Given the description of an element on the screen output the (x, y) to click on. 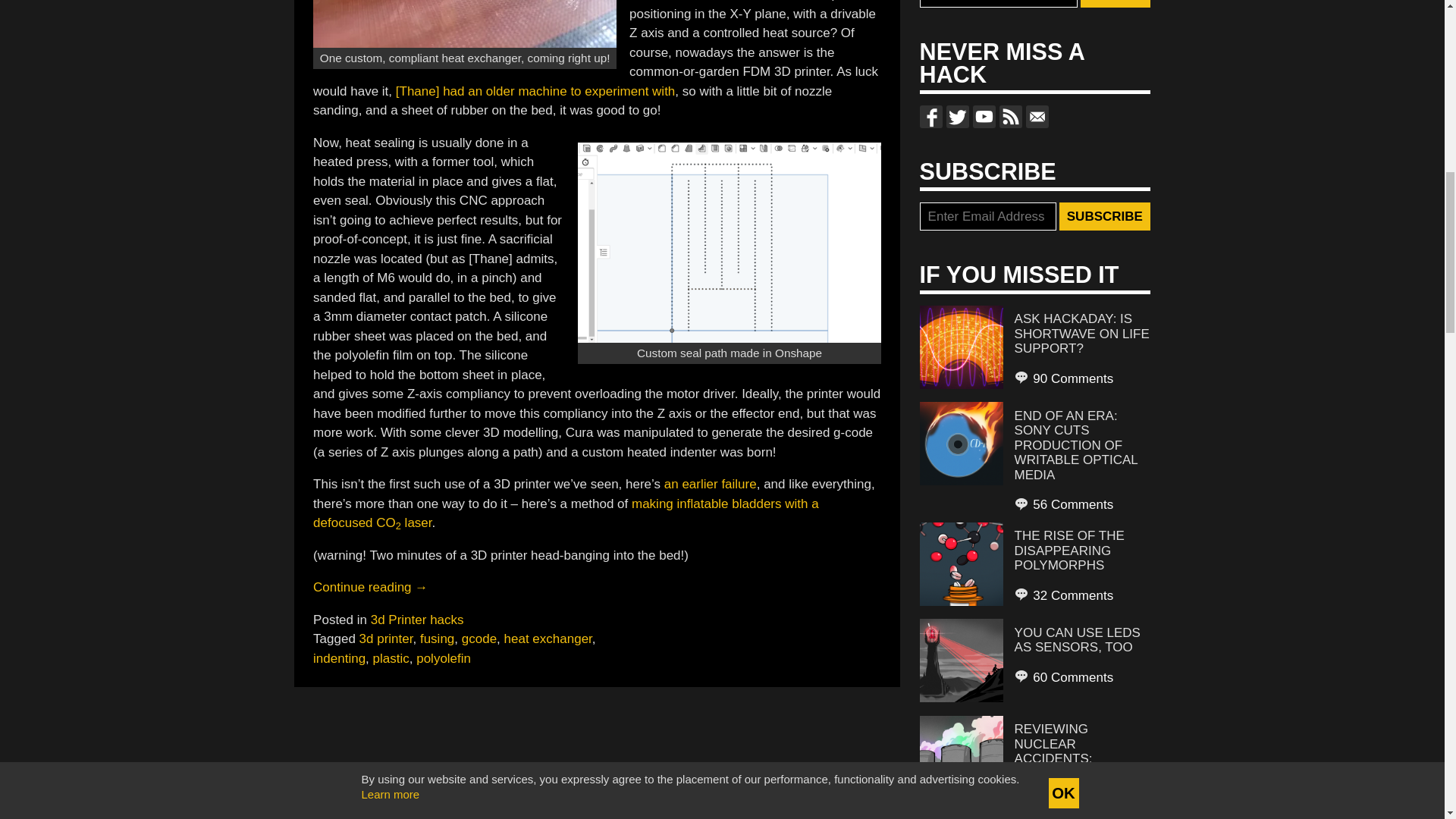
indenting (339, 657)
an earlier failure (710, 483)
plastic (390, 657)
polyolefin (443, 657)
3d Printer hacks (417, 619)
making inflatable bladders with a defocused CO2 laser (565, 512)
fusing (437, 638)
Search (1115, 4)
Subscribe (1104, 216)
3d printer (386, 638)
heat exchanger (547, 638)
Search (1115, 4)
gcode (478, 638)
